Given the description of an element on the screen output the (x, y) to click on. 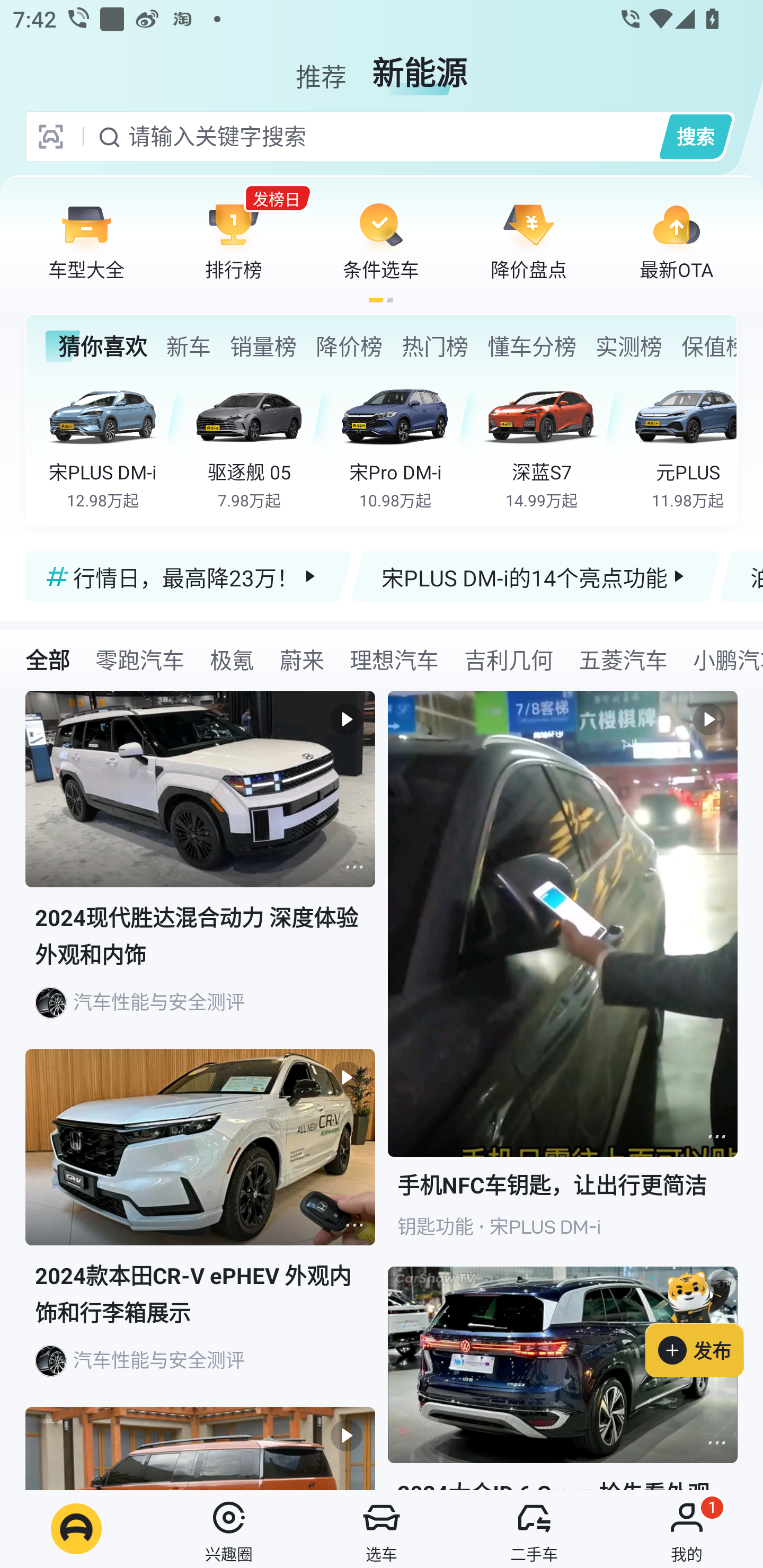
推荐 (321, 65)
新能源 (419, 65)
搜索 (695, 136)
车型大全 (86, 240)
发榜日 排行榜 (233, 240)
条件选车 (380, 240)
降价盘点 (528, 240)
最新OTA (676, 240)
猜你喜欢 (96, 346)
新车 (188, 346)
销量榜 (262, 346)
降价榜 (348, 346)
热门榜 (434, 346)
懂车分榜 (531, 346)
实测榜 (628, 346)
保值榜 (708, 346)
宋PLUS DM-i 12.98万起 (115, 442)
驱逐舰 05 7.98万起 (261, 442)
宋Pro DM-i 10.98万起 (407, 442)
深蓝S7 14.99万起 (554, 442)
元PLUS 11.98万起 (683, 442)
行情日，最高降23万！ (188, 576)
宋PLUS DM-i的14个亮点功能 (535, 576)
全部 (47, 659)
零跑汽车 (139, 659)
极氪 (231, 659)
蔚来 (302, 659)
理想汽车 (394, 659)
吉利几何 (508, 659)
五菱汽车 (623, 659)
小鹏汽车 (721, 659)
  2024现代胜达混合动力 深度体验外观和内饰 汽车性能与安全测评 (200, 869)
  手机NFC车钥匙，让出行更简洁 钥匙功能 宋PLUS DM-i (562, 978)
 (354, 867)
  2024款本田CR-V ePHEV 外观内饰和行李箱展示 汽车性能与安全测评 (200, 1227)
 (716, 1136)
宋PLUS DM-i (545, 1226)
 (354, 1224)
发布 (704, 1320)
  2024大众ID.6 Crozz 抢先看外观和内饰 (562, 1377)
 (716, 1442)
 兴趣圈 (228, 1528)
 选车 (381, 1528)
 二手车 (533, 1528)
 我的 (686, 1528)
